Given the description of an element on the screen output the (x, y) to click on. 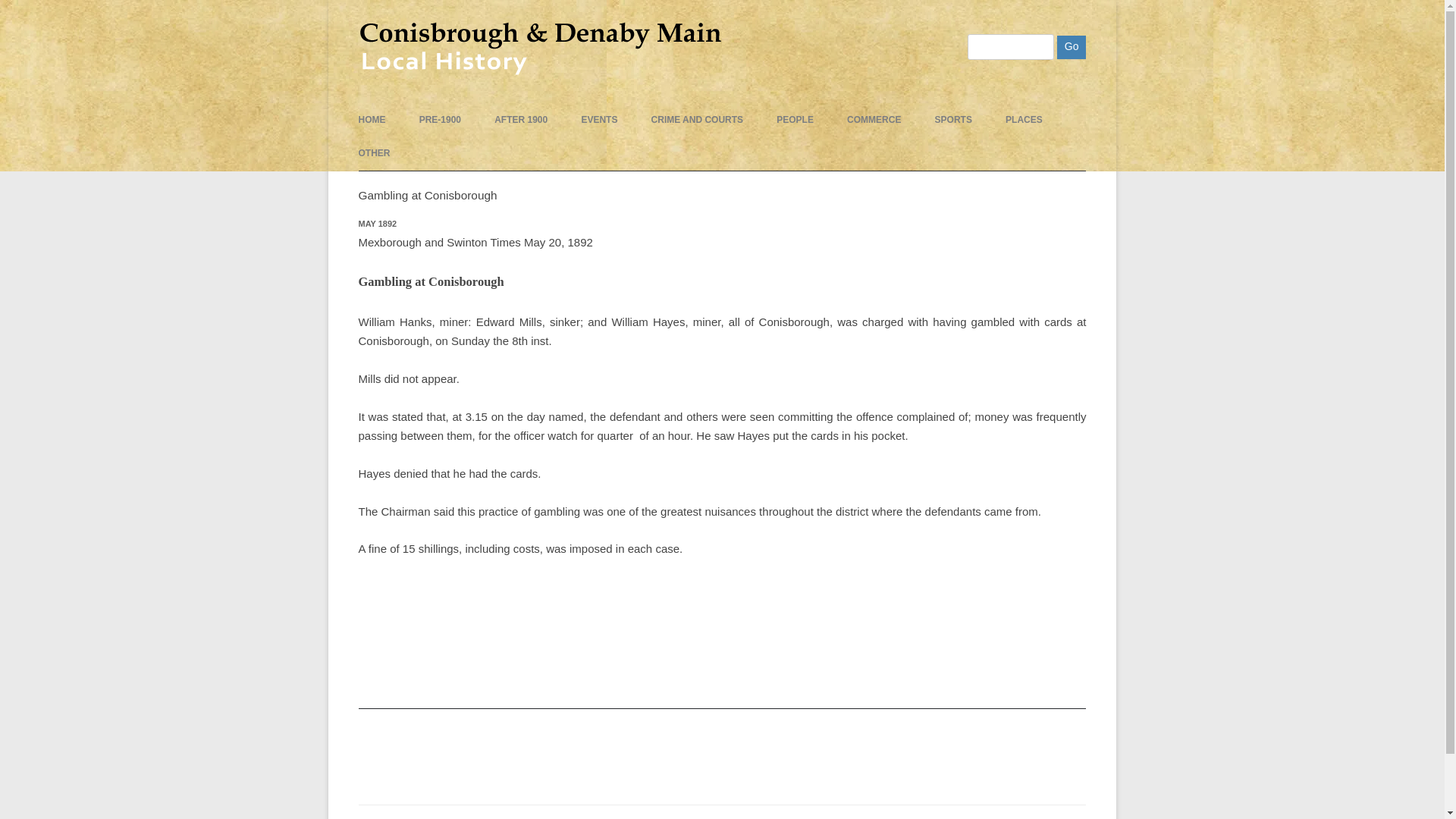
AFTER 1900 (521, 119)
Go (1071, 46)
Go (1071, 46)
OTHER (374, 152)
COMMERCE (874, 119)
EVENTS (598, 119)
CRIME AND COURTS (697, 119)
PRE-1900 (440, 119)
PLACES (1024, 119)
SPORTS (953, 119)
PEOPLE (794, 119)
